Given the description of an element on the screen output the (x, y) to click on. 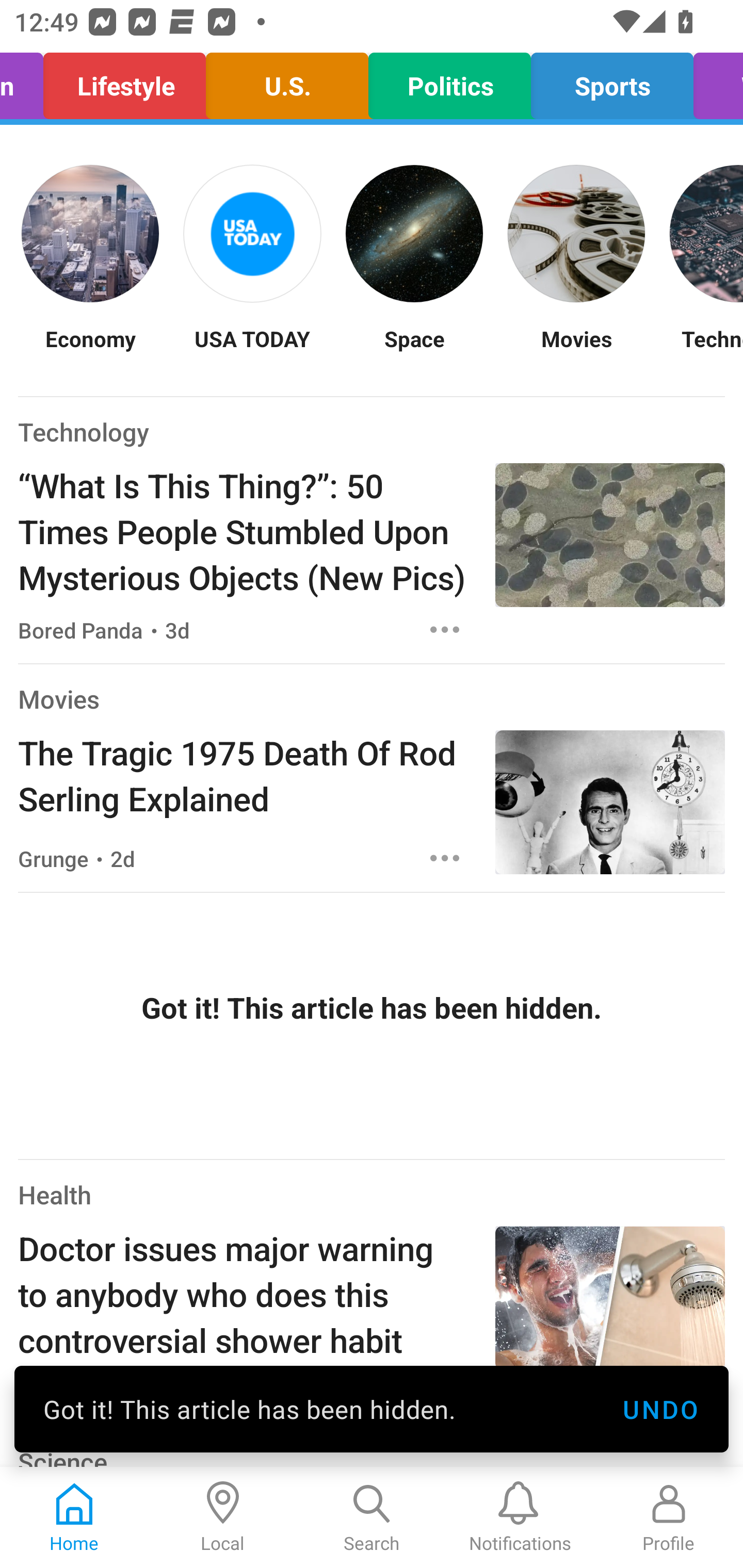
Lifestyle (124, 81)
U.S. (286, 81)
Politics (449, 81)
Sports (612, 81)
Economy (89, 350)
USA TODAY (251, 350)
Space (413, 350)
Movies (575, 350)
Technology (83, 430)
Options (444, 629)
Movies (58, 699)
Options (444, 858)
Health (54, 1194)
UNDO (660, 1408)
Local (222, 1517)
Search (371, 1517)
Notifications (519, 1517)
Profile (668, 1517)
